Given the description of an element on the screen output the (x, y) to click on. 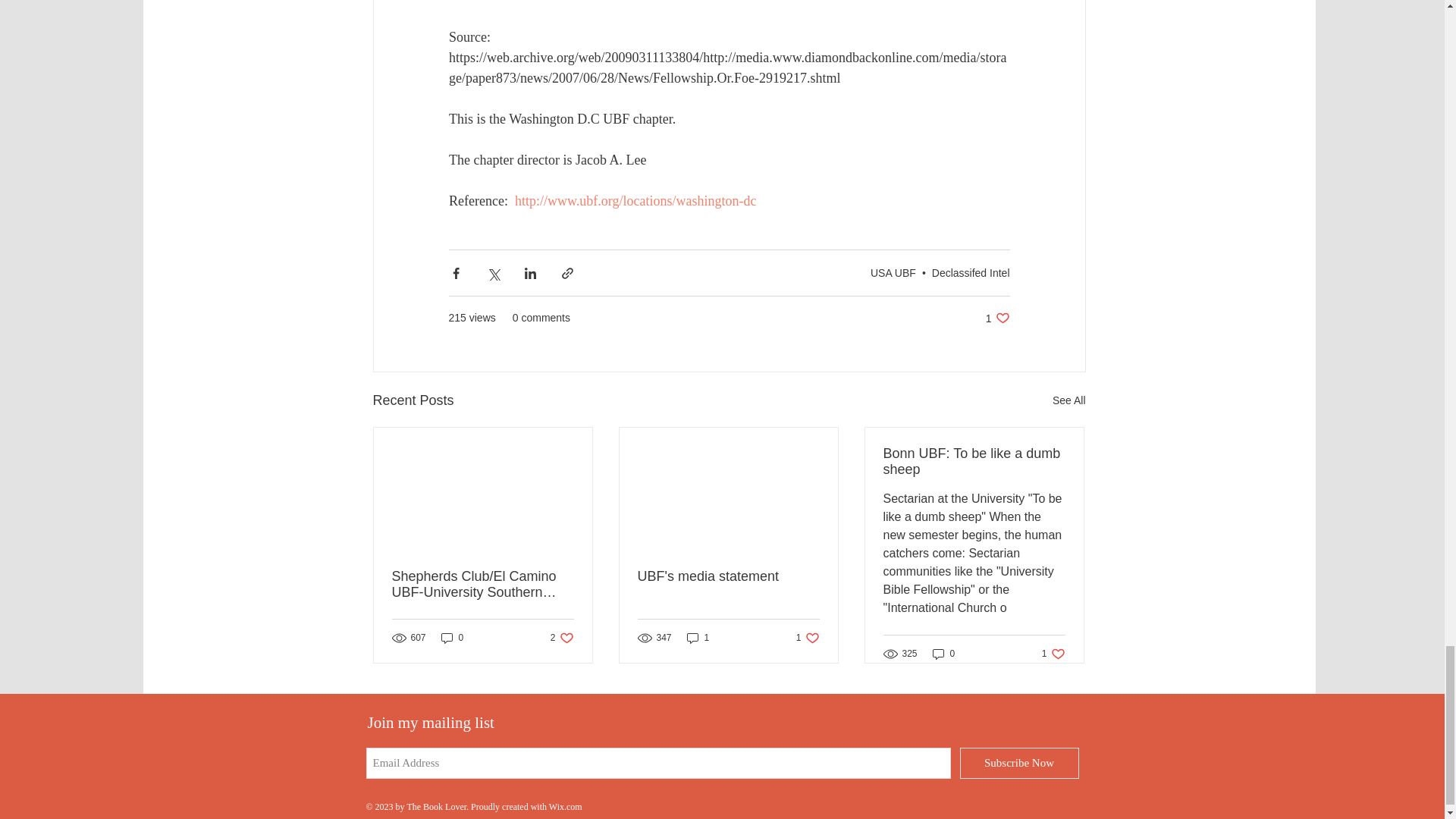
0 (452, 637)
USA UBF (892, 272)
Declassifed Intel (970, 272)
See All (997, 318)
